Given the description of an element on the screen output the (x, y) to click on. 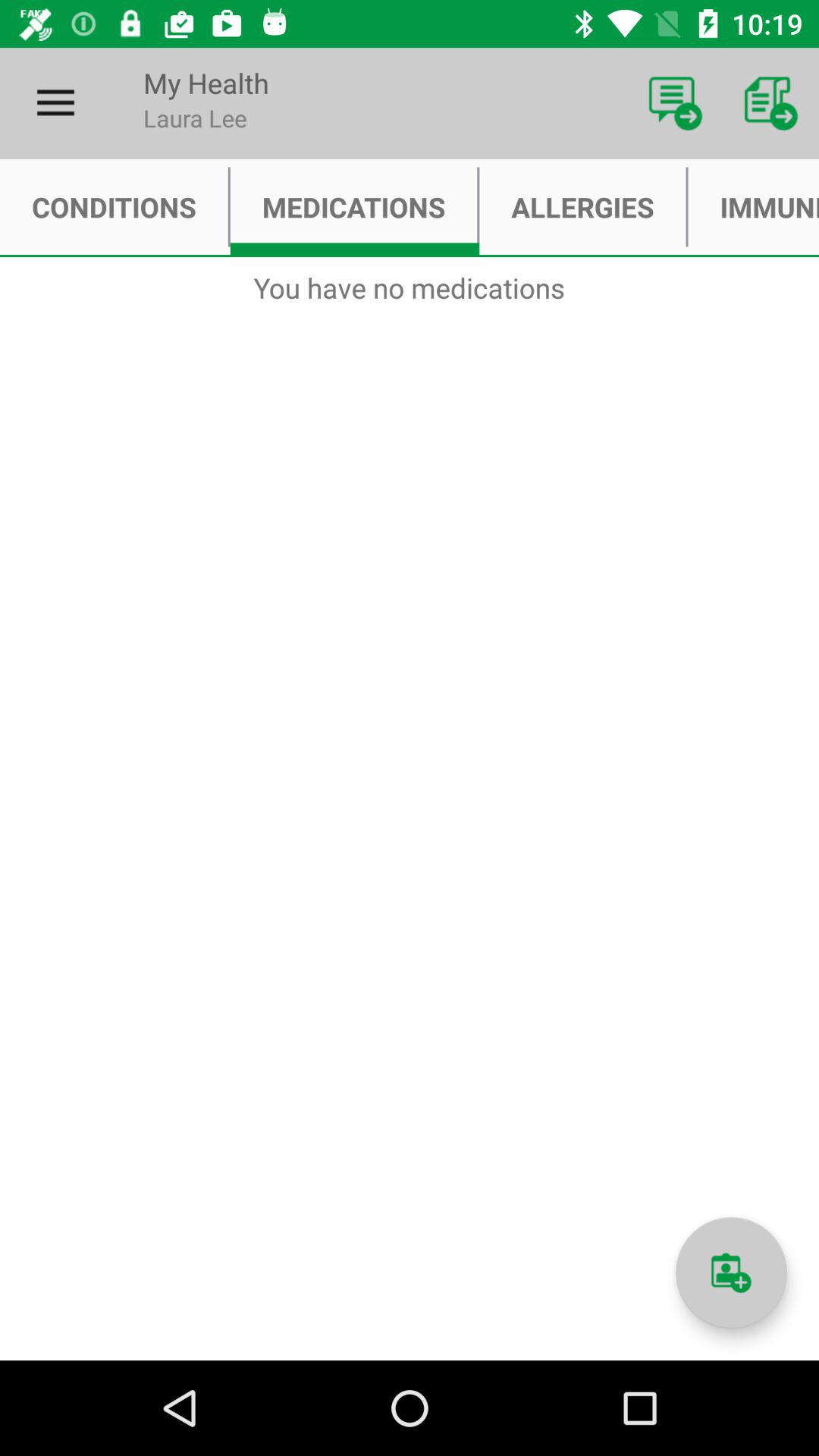
press item at the bottom right corner (731, 1272)
